Given the description of an element on the screen output the (x, y) to click on. 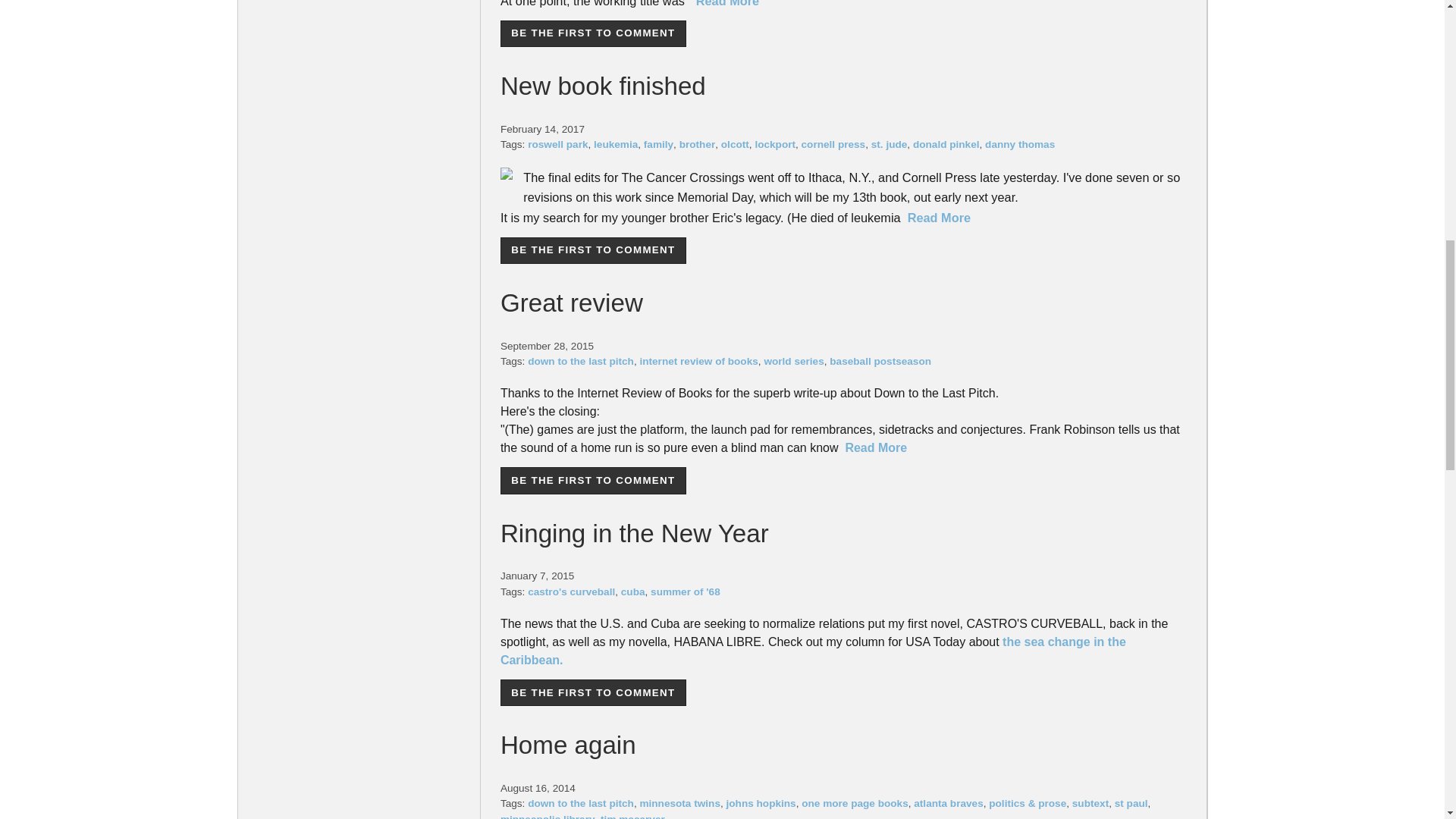
olcott (734, 143)
New book finished (603, 85)
roswell park (557, 143)
BE THE FIRST TO COMMENT (592, 33)
family (657, 143)
brother (697, 143)
Read More (726, 3)
leukemia (615, 143)
